Given the description of an element on the screen output the (x, y) to click on. 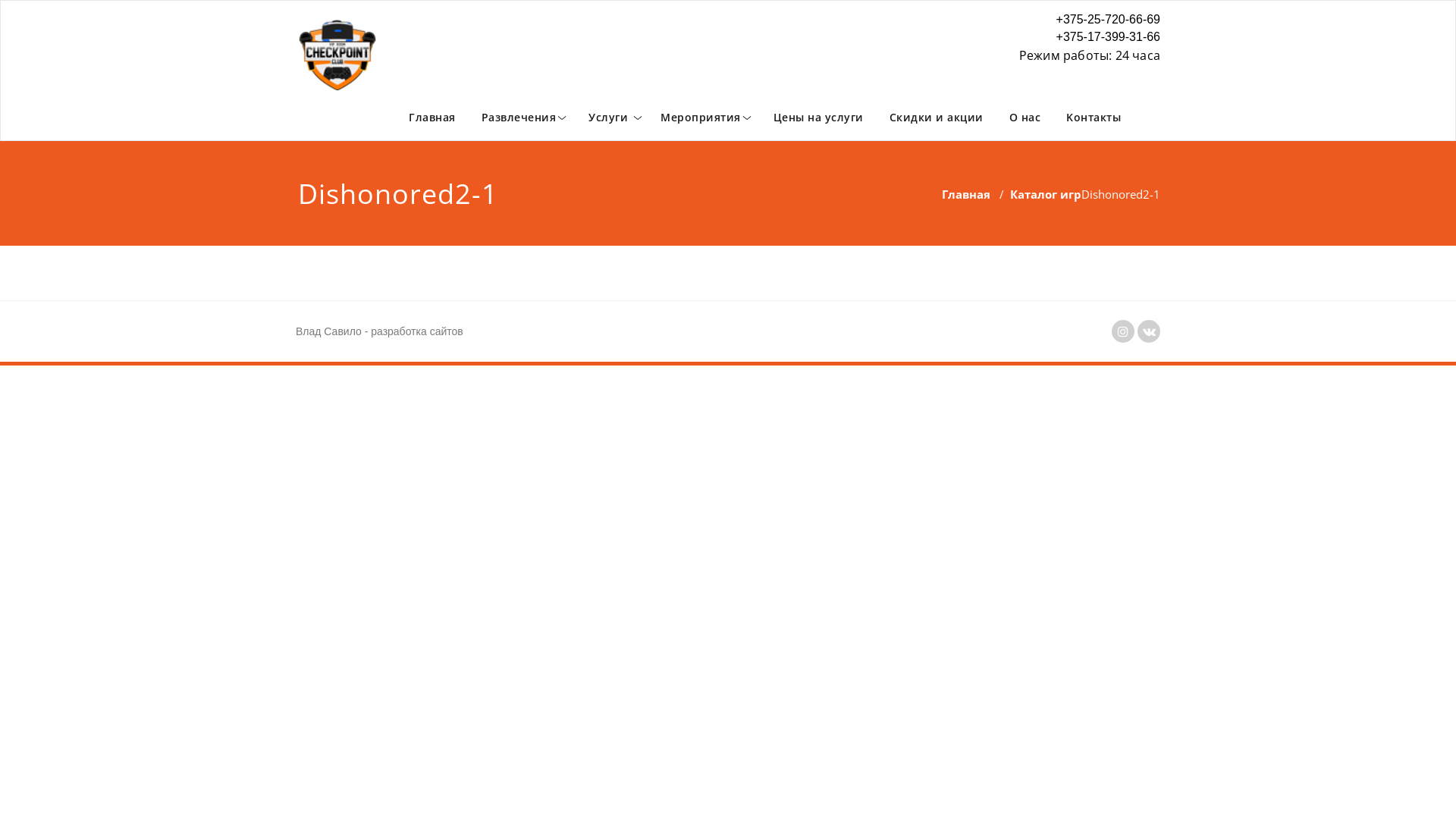
+375-17-399-31-66 Element type: text (1089, 37)
+375-25-720-66-69 Element type: text (1089, 19)
